Given the description of an element on the screen output the (x, y) to click on. 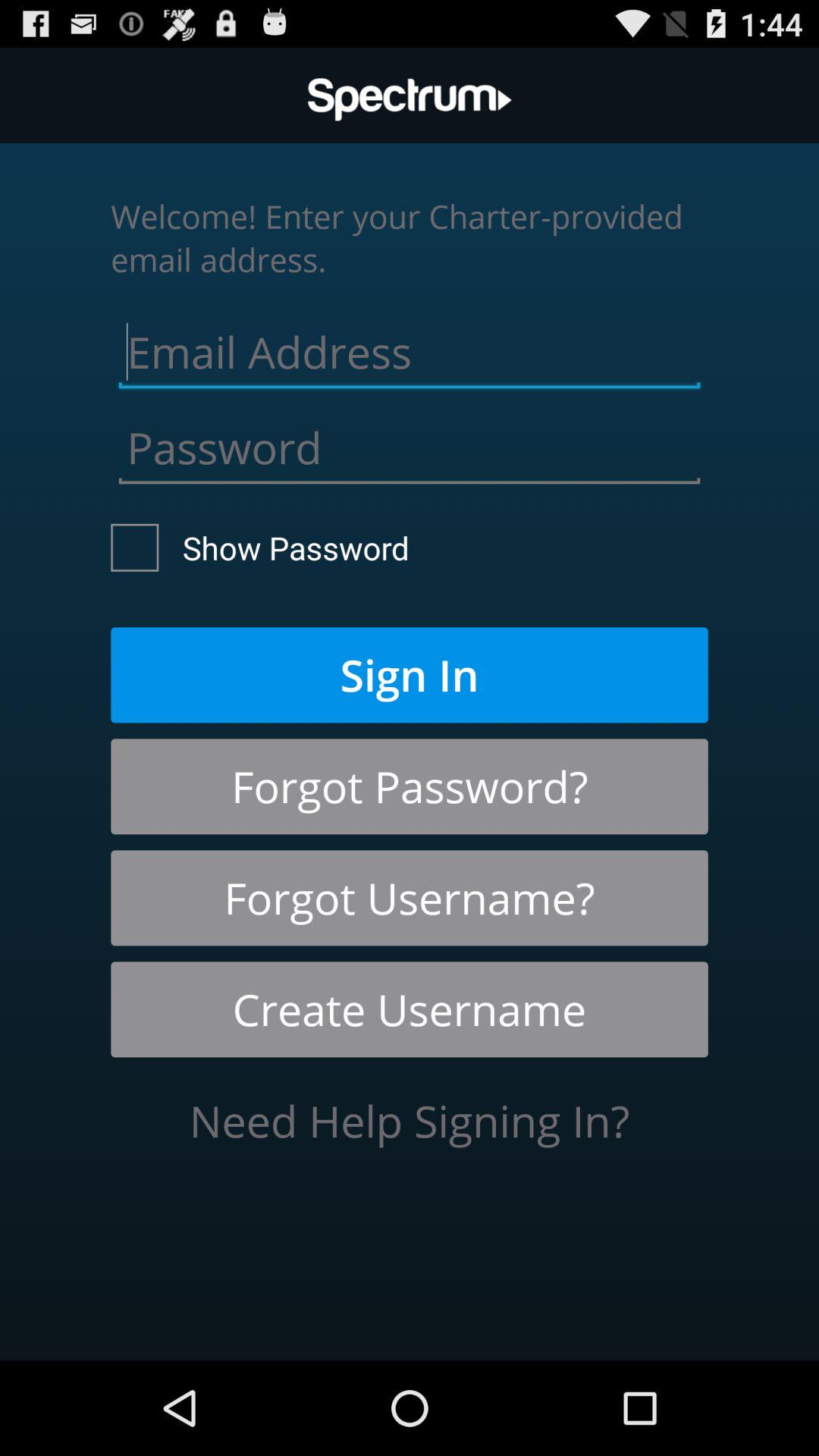
open item below create username item (409, 1120)
